Given the description of an element on the screen output the (x, y) to click on. 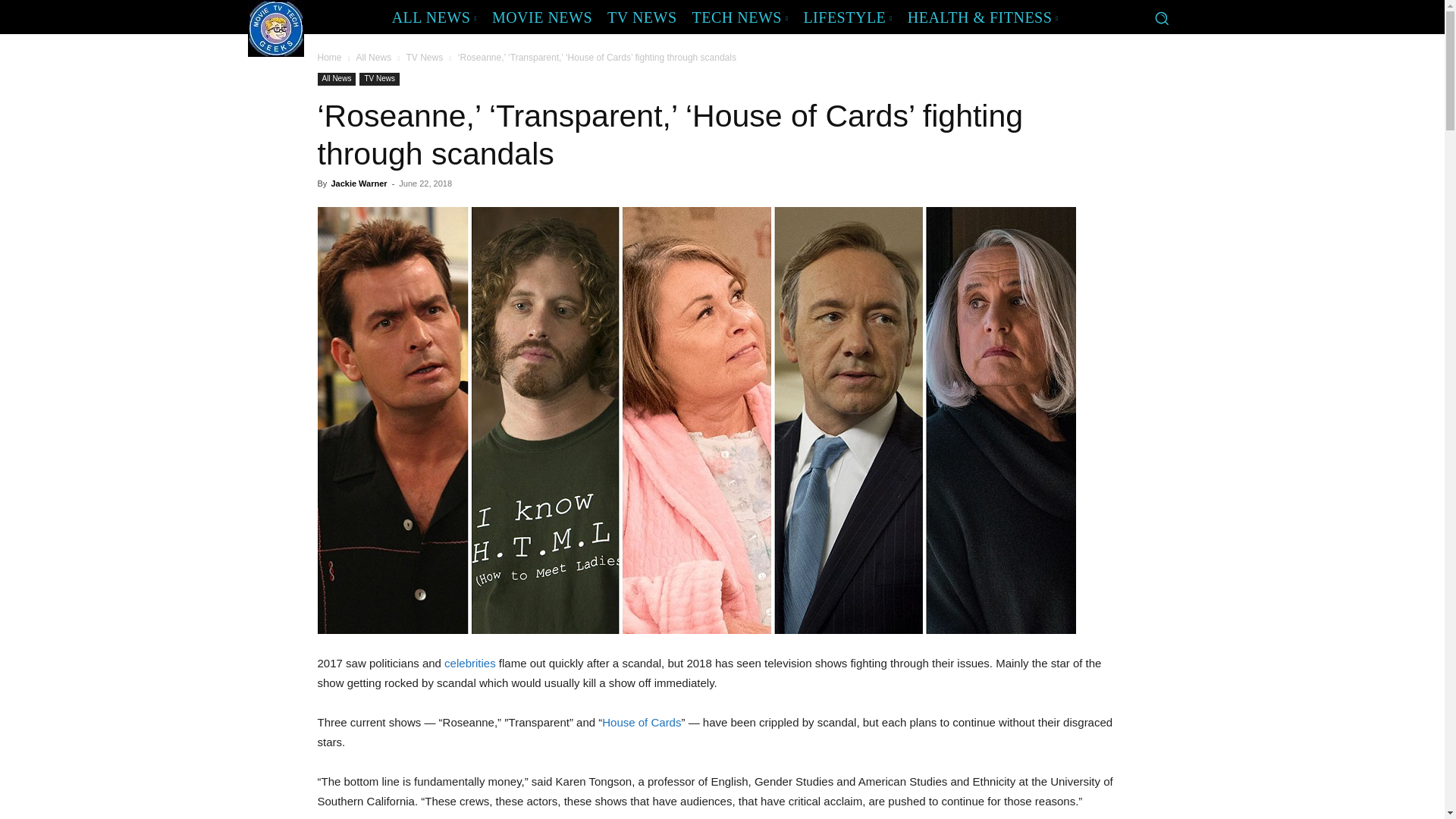
TV News (378, 78)
Home (328, 57)
View all posts in All News (373, 57)
LIFESTYLE (846, 17)
All News (373, 57)
All News (336, 78)
TECH NEWS (740, 17)
House of Cards (641, 721)
Movie TV Tech Geeks News Logo (274, 28)
View all posts in TV News (425, 57)
